Given the description of an element on the screen output the (x, y) to click on. 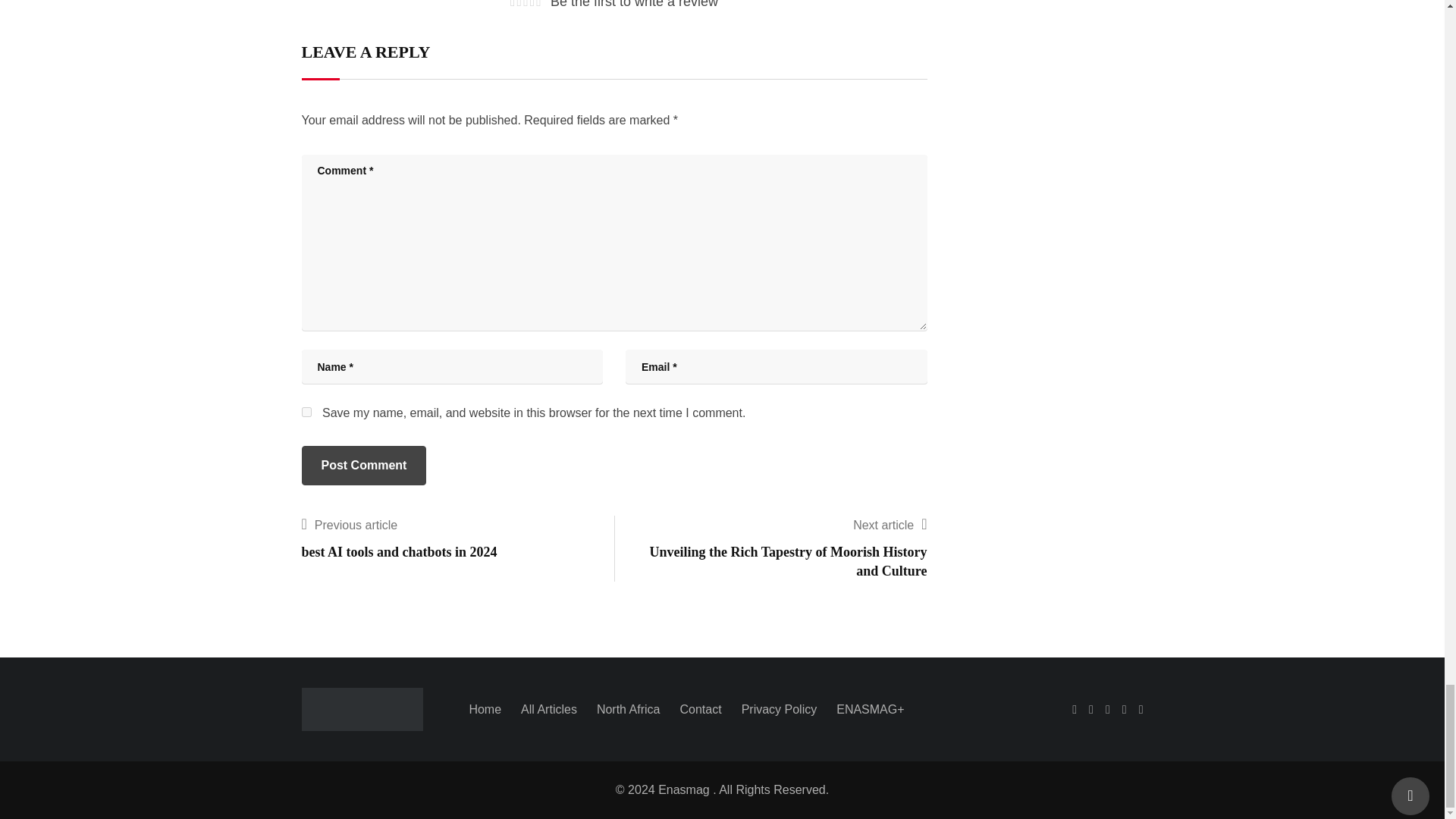
Post Comment (363, 465)
yes (306, 411)
